Given the description of an element on the screen output the (x, y) to click on. 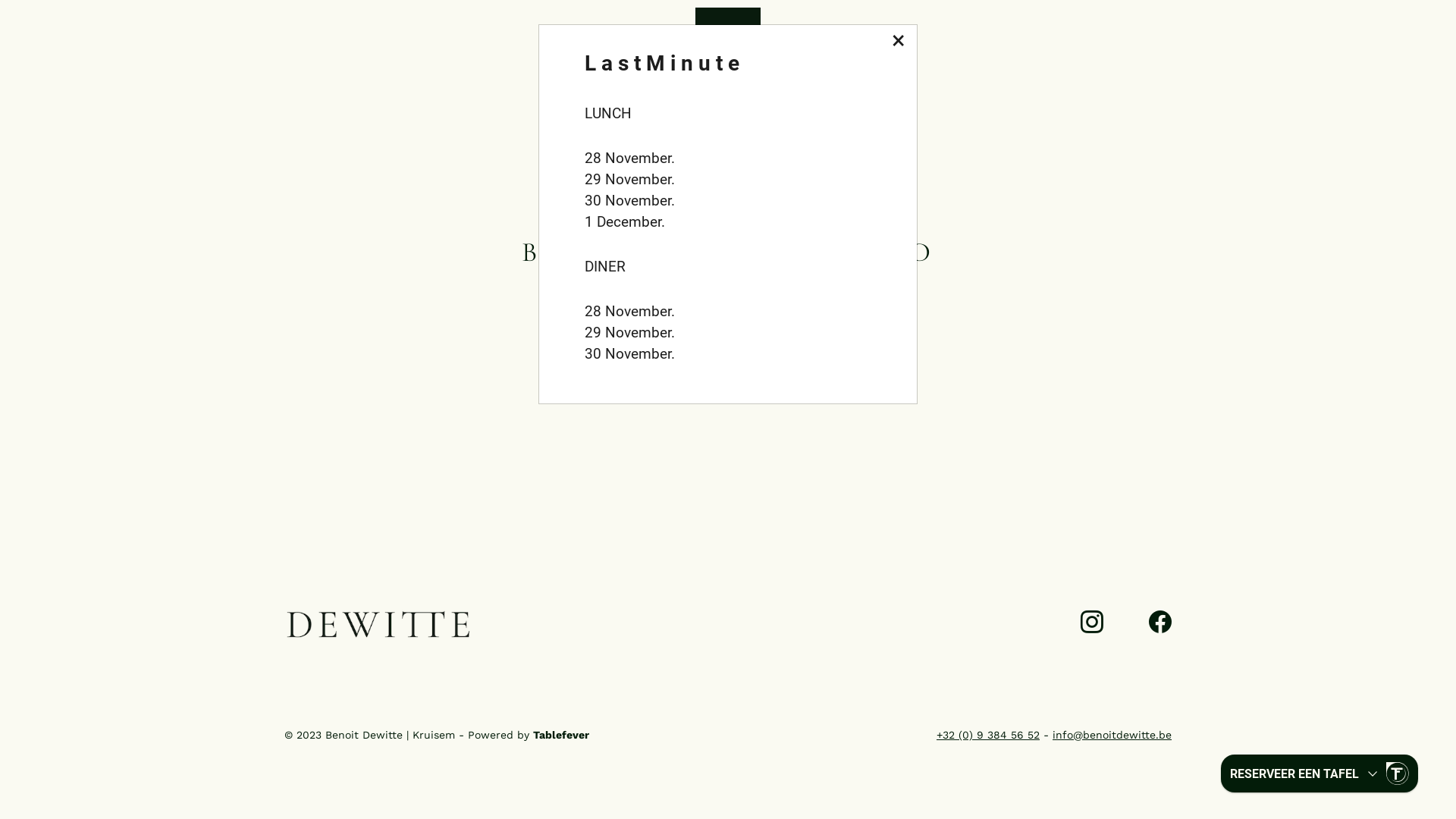
info@benoitdewitte.be Element type: text (1111, 734)
+32 (0) 9 384 56 52 Element type: text (987, 734)
